Given the description of an element on the screen output the (x, y) to click on. 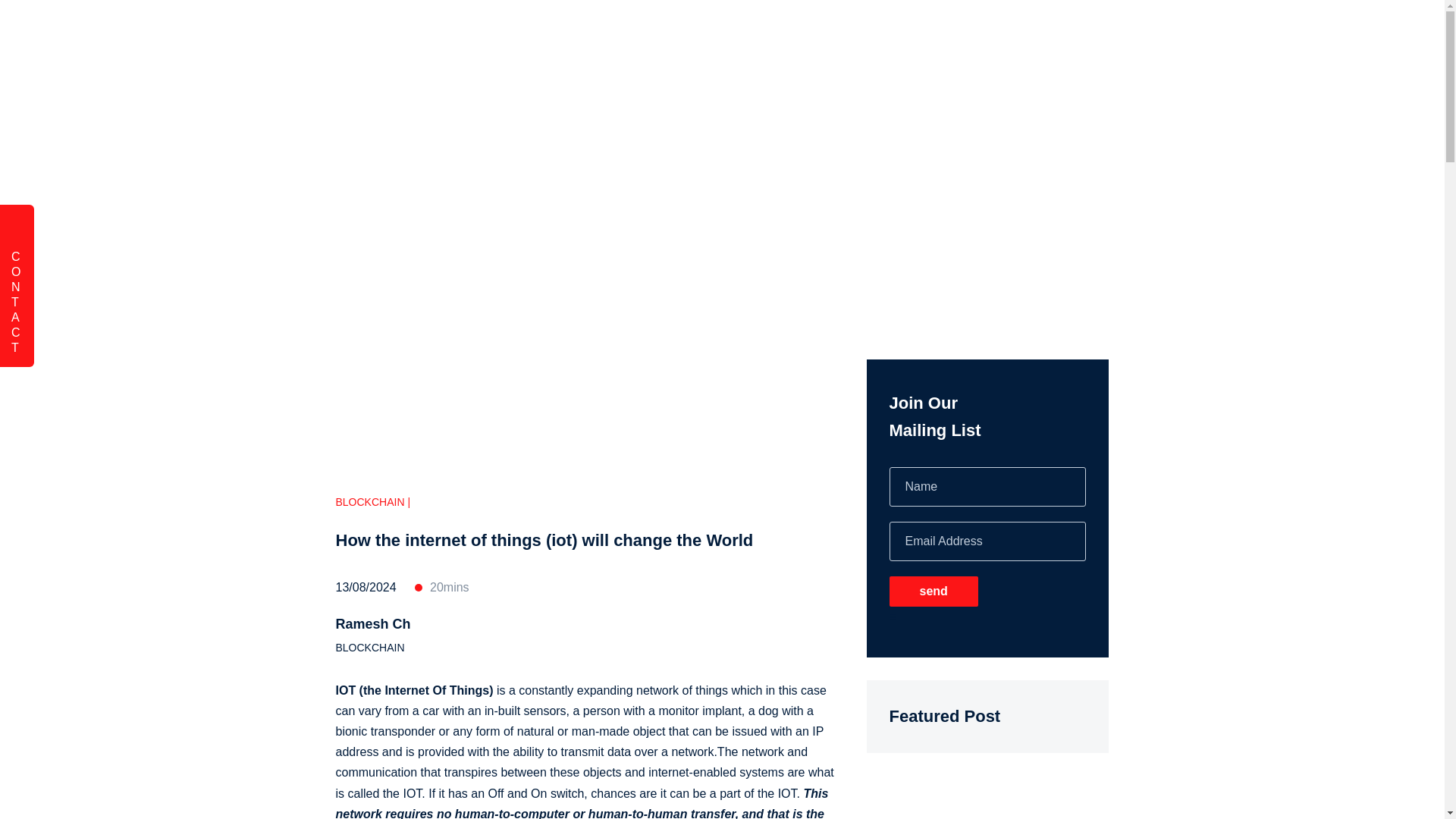
send (932, 591)
Services (676, 33)
Industries (962, 33)
Our Works (871, 33)
About (1045, 33)
Technology (774, 33)
